Given the description of an element on the screen output the (x, y) to click on. 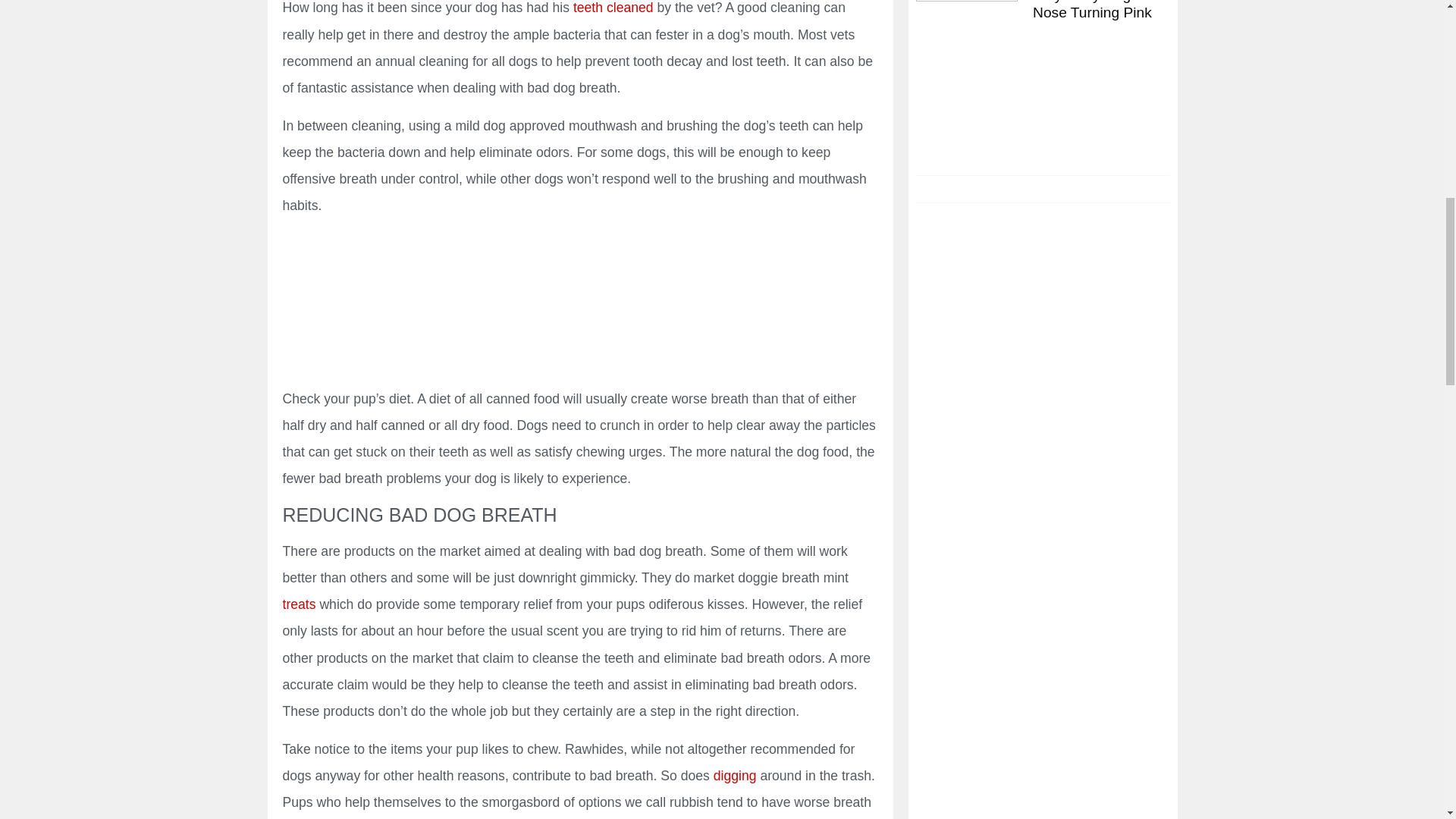
Advertisement (579, 305)
Brushing a Dog''s Teeth (613, 7)
Digging (735, 775)
Advertisement (1042, 330)
Dog Treats (300, 604)
